Given the description of an element on the screen output the (x, y) to click on. 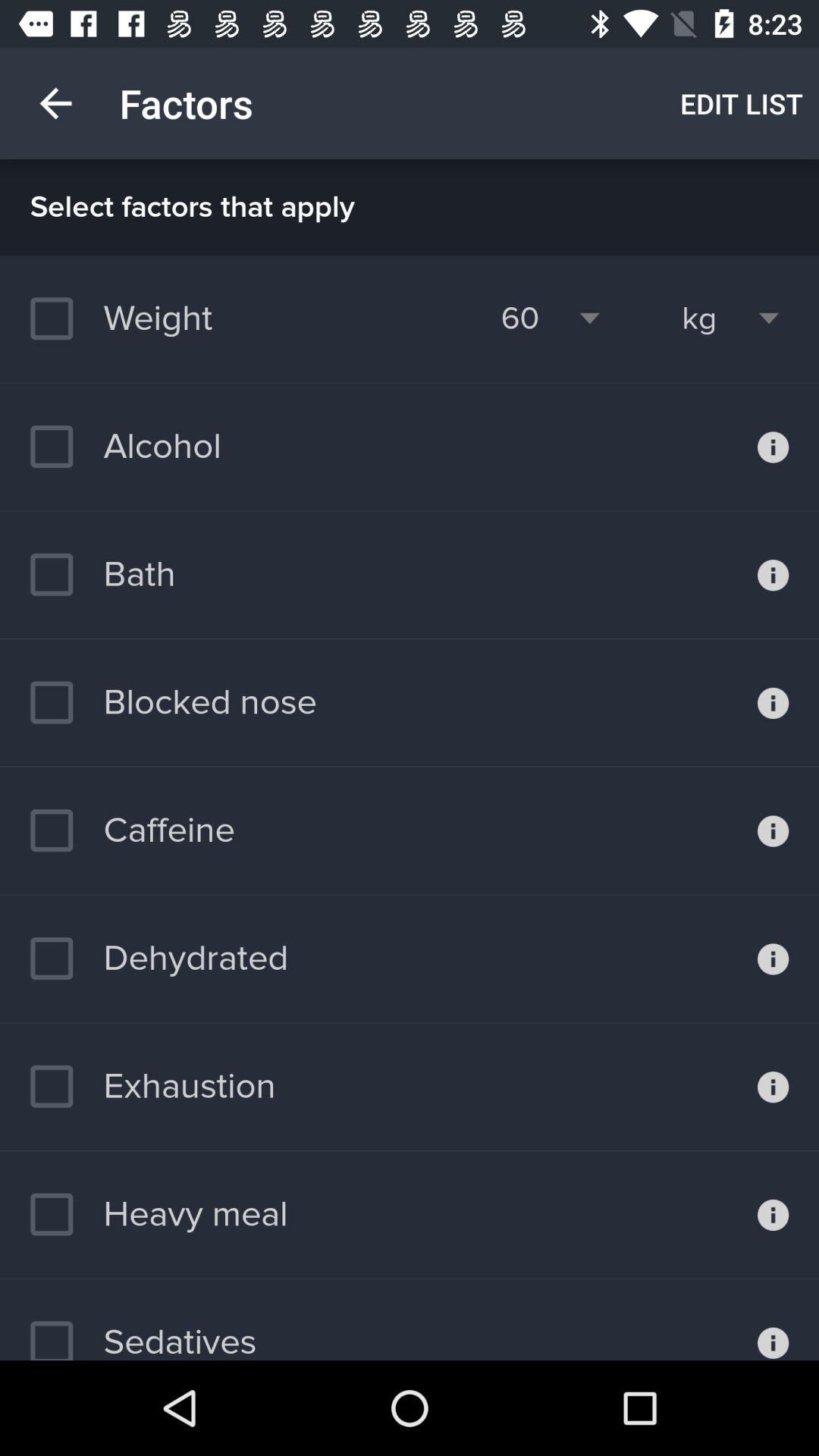
information (773, 1214)
